Given the description of an element on the screen output the (x, y) to click on. 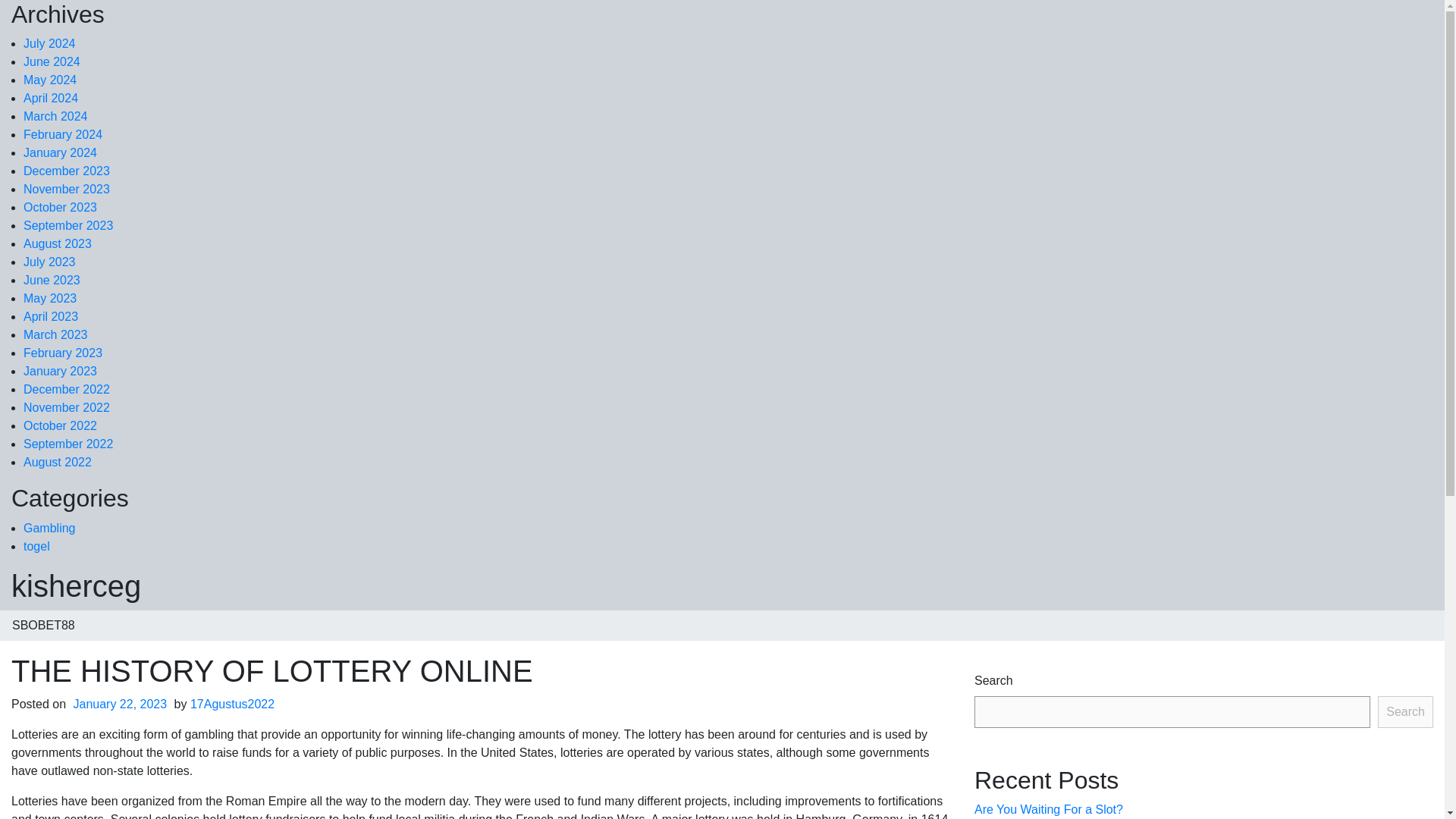
May 2023 (50, 297)
August 2022 (57, 461)
June 2024 (51, 61)
kisherceg (76, 585)
March 2024 (55, 115)
November 2023 (66, 188)
January 2024 (60, 152)
February 2023 (62, 352)
October 2023 (60, 206)
May 2024 (50, 79)
Gambling (49, 527)
17Agustus2022 (232, 703)
June 2023 (51, 279)
SBOBET88 (43, 625)
December 2023 (66, 170)
